Given the description of an element on the screen output the (x, y) to click on. 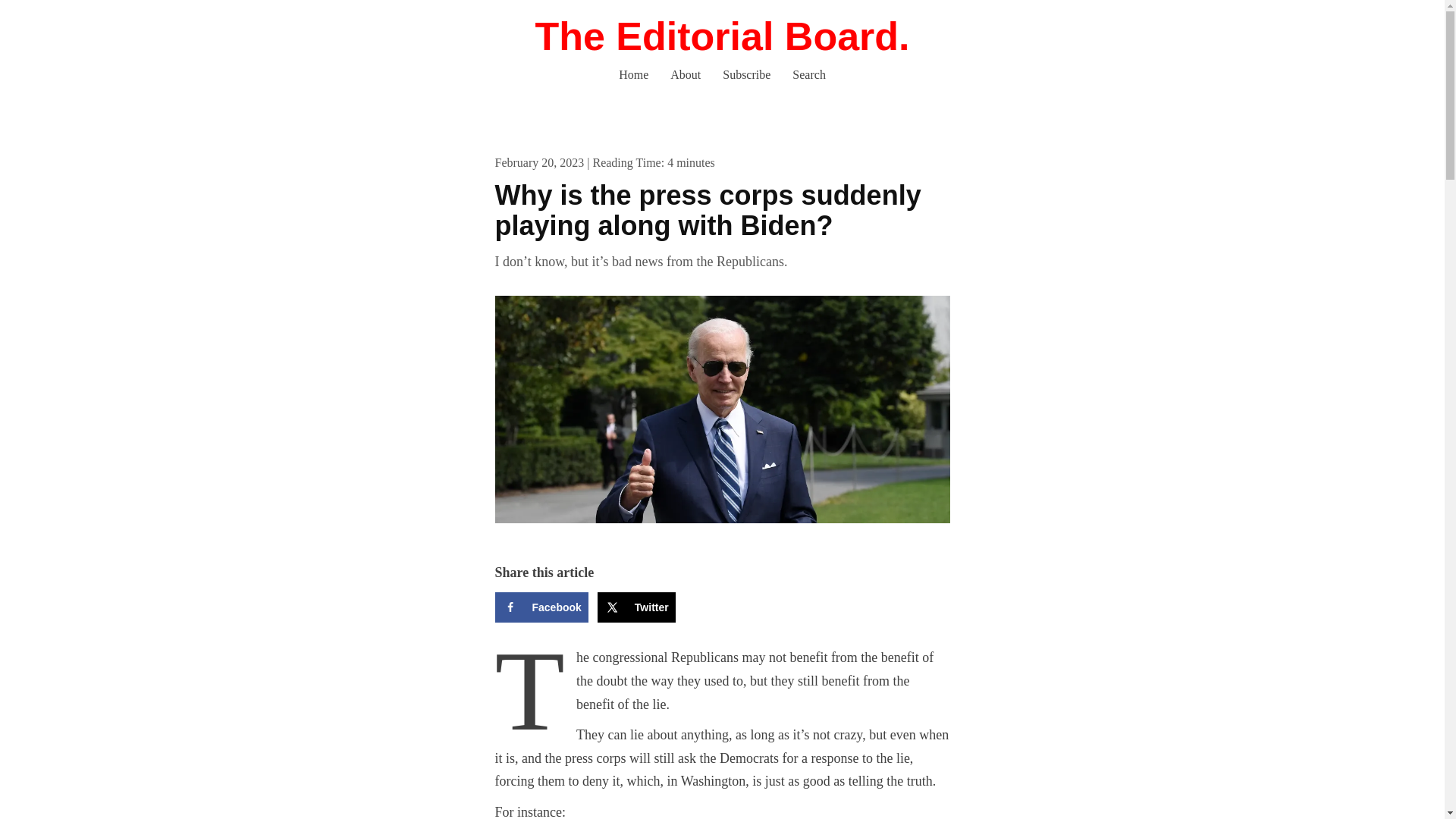
Facebook (541, 607)
Share on Facebook (541, 607)
Biden (722, 409)
Home (633, 74)
About (685, 74)
Subscribe (745, 74)
Search (808, 74)
The Editorial Board. (721, 36)
The Editorial Board. (721, 36)
Share on X (635, 607)
Twitter (635, 607)
